Given the description of an element on the screen output the (x, y) to click on. 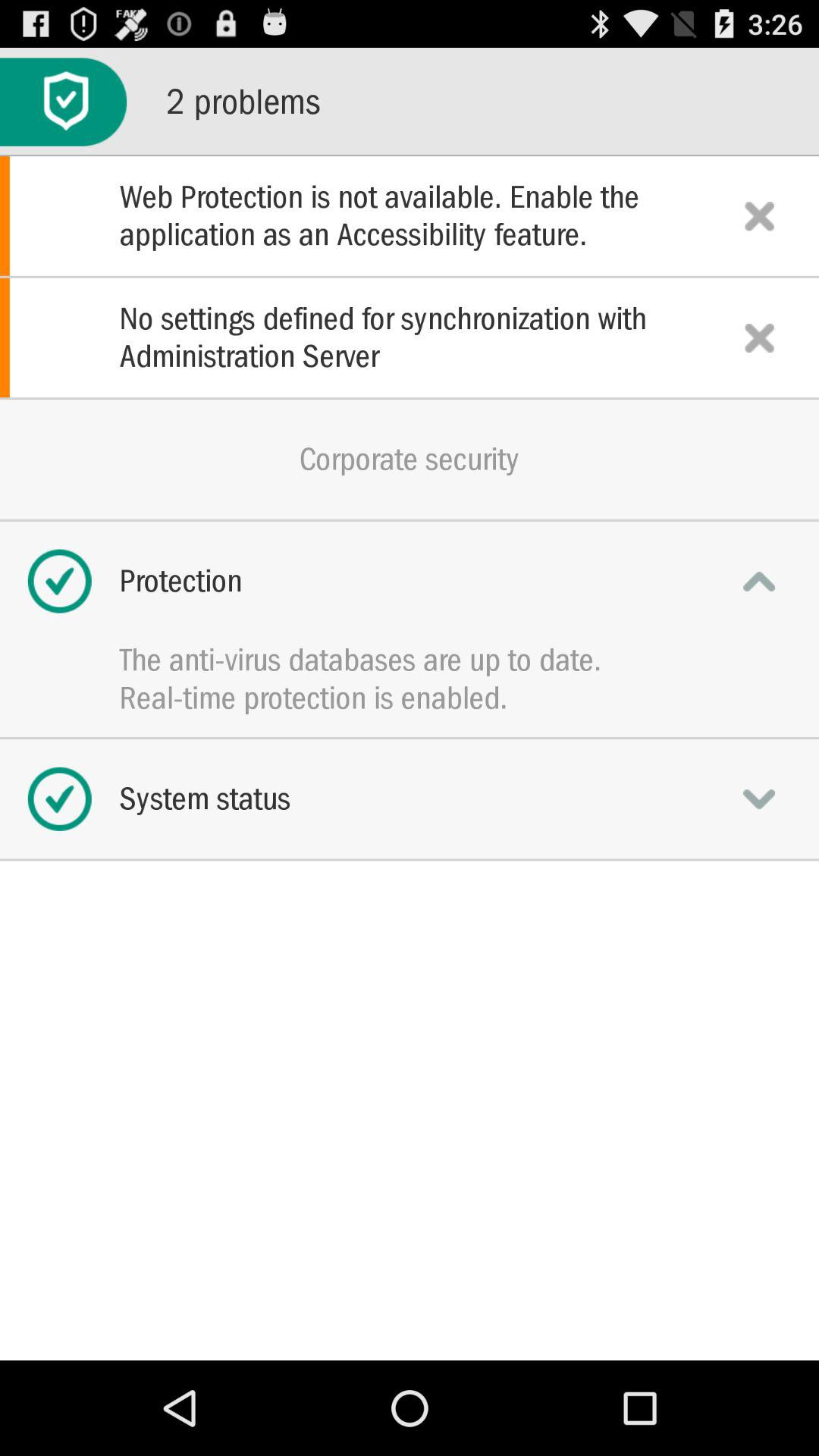
turn off the system status item (409, 798)
